Given the description of an element on the screen output the (x, y) to click on. 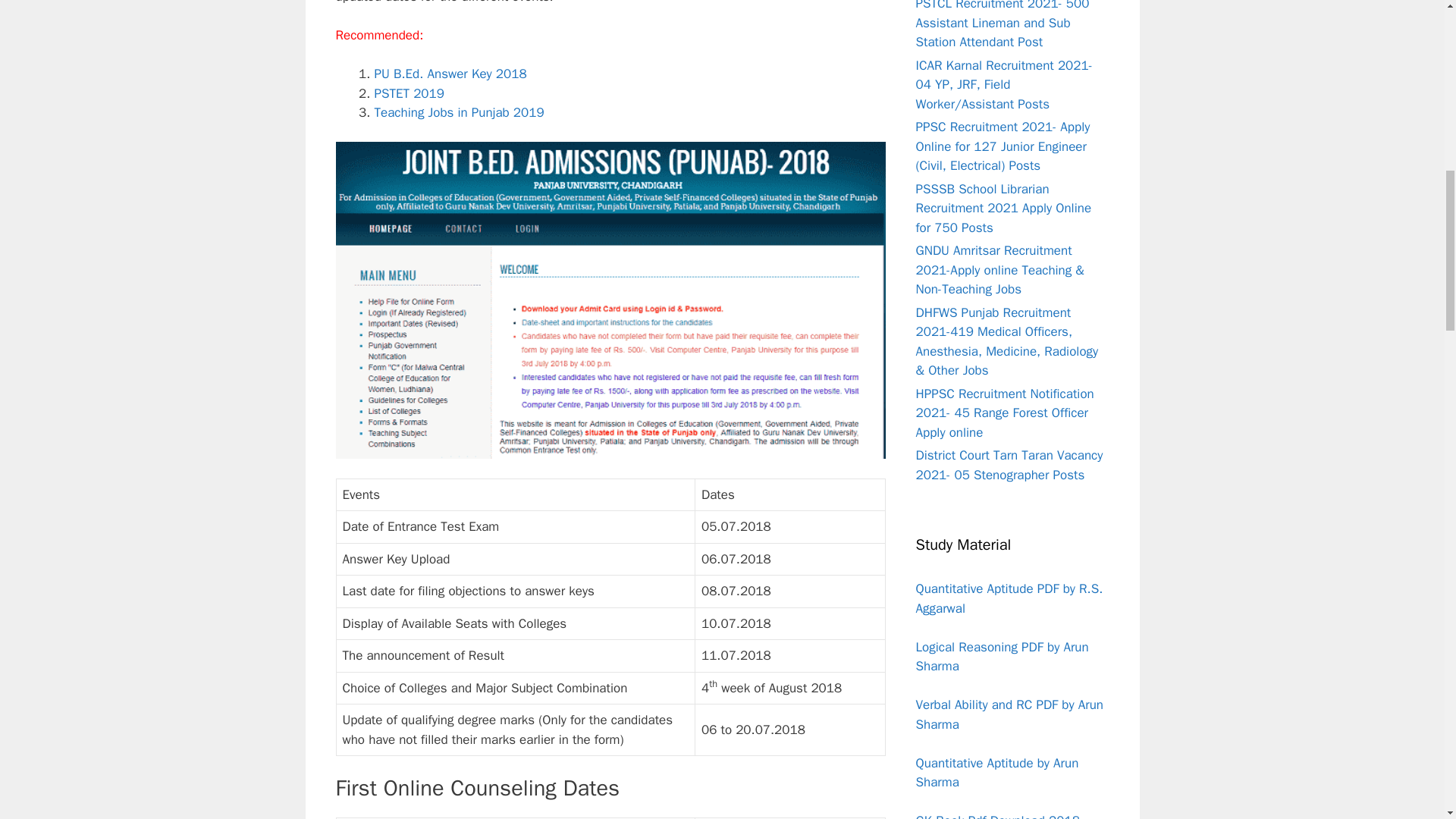
PU B.Ed. Answer Key 2018 (450, 73)
Teaching Jobs in Punjab 2019 (459, 112)
PSTET 2019 (409, 93)
Scroll back to top (1406, 720)
